Given the description of an element on the screen output the (x, y) to click on. 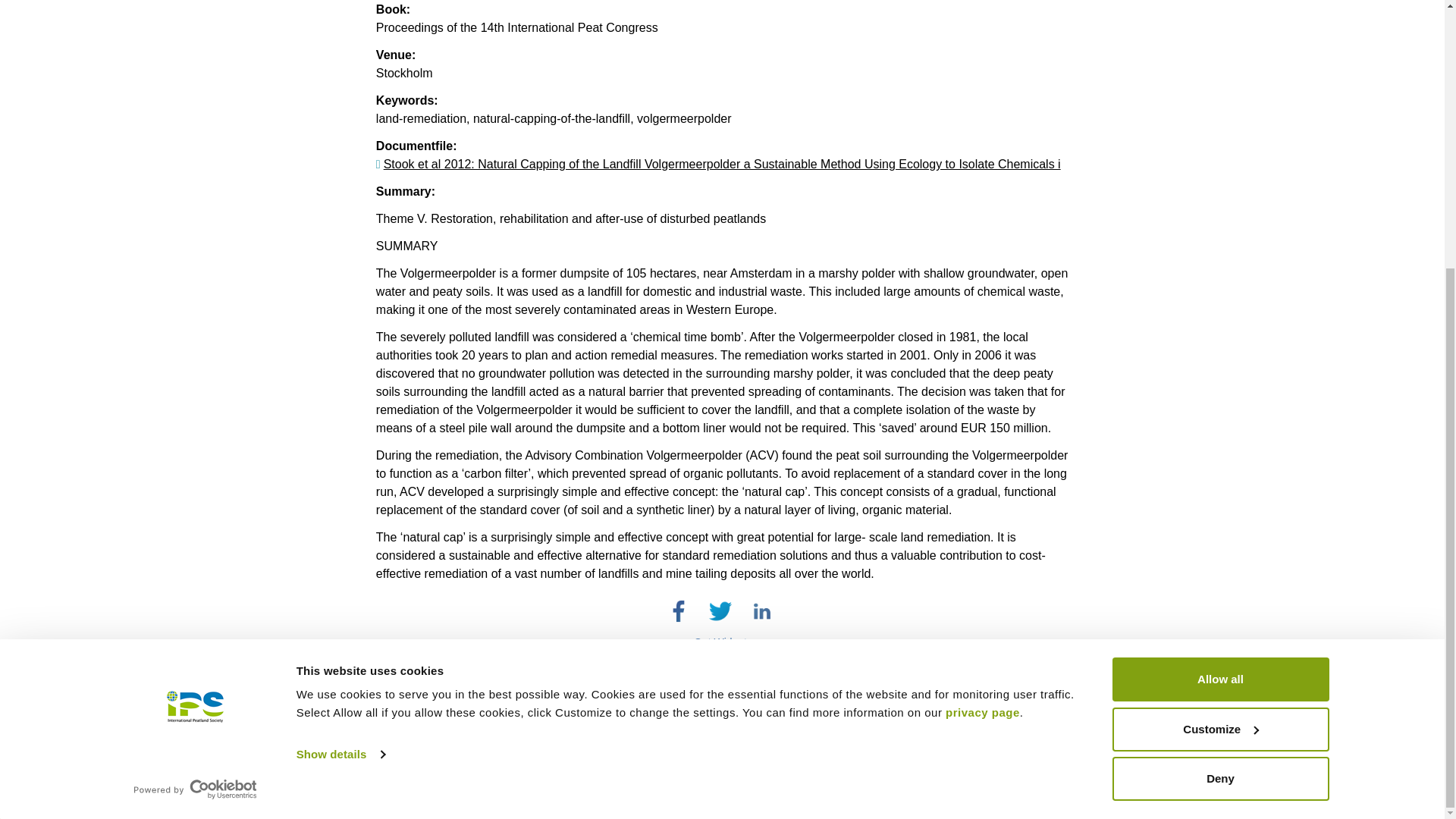
Customize (1219, 338)
LinkedIn (761, 610)
privacy page (982, 321)
Deny (1219, 388)
Allow all (1219, 288)
Facebook (678, 610)
Twitter (720, 610)
Show details (340, 363)
